Given the description of an element on the screen output the (x, y) to click on. 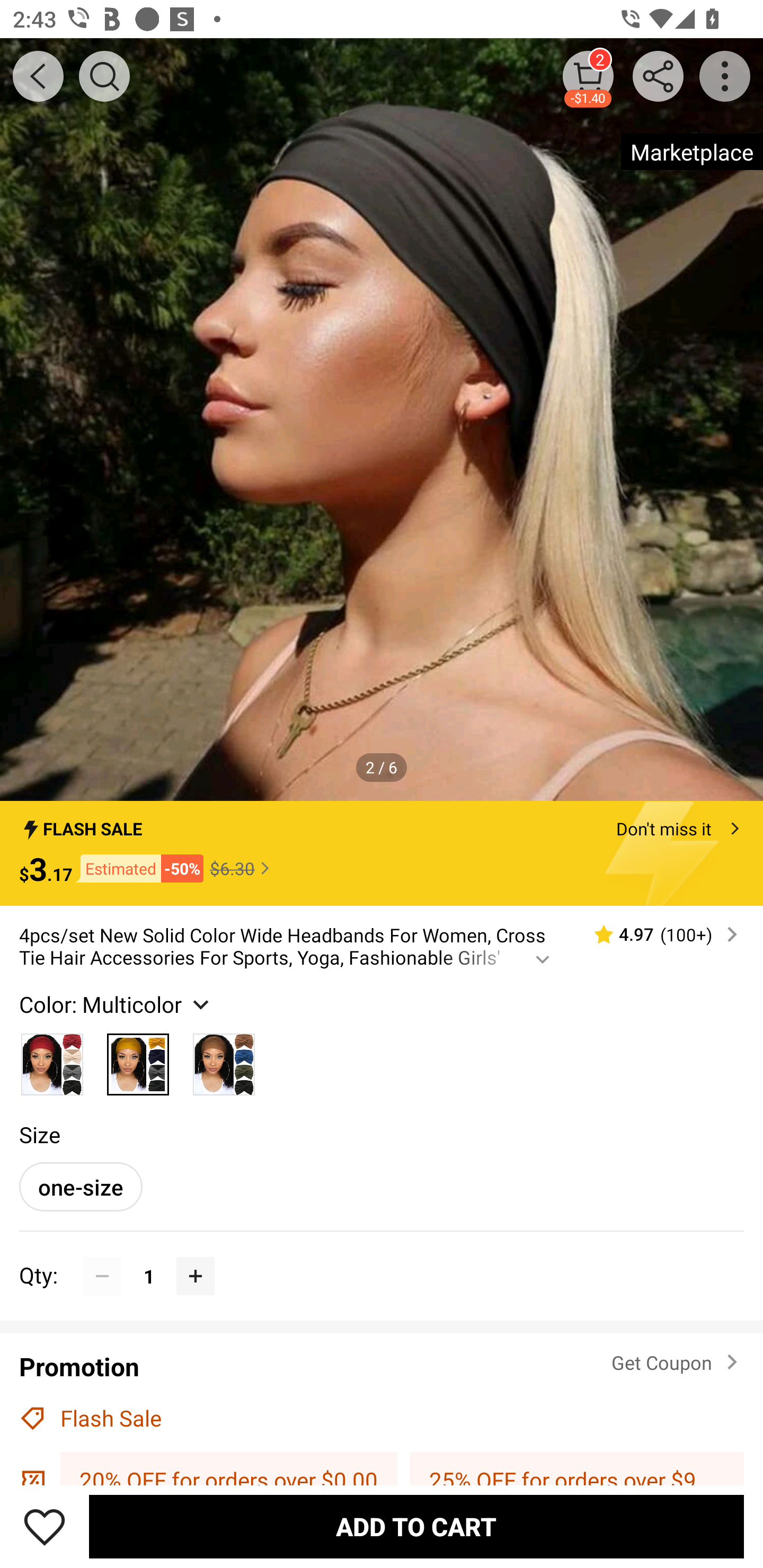
PHOTOS (381, 419)
BACK (38, 75)
2 -$1.40 (588, 75)
2 / 6 (381, 766)
FLASH SALE Don't miss it (381, 823)
Estimated -50% (137, 868)
$6.30 (241, 867)
4.97 (100‎+) (658, 934)
Color: Multicolor (116, 1004)
Multicolor (52, 1059)
Multicolor (138, 1059)
Multicolor (224, 1059)
Size (39, 1134)
one-size one-sizeunselected option (80, 1186)
Qty: 1 (381, 1256)
ADD TO CART (416, 1526)
Save (44, 1526)
